Given the description of an element on the screen output the (x, y) to click on. 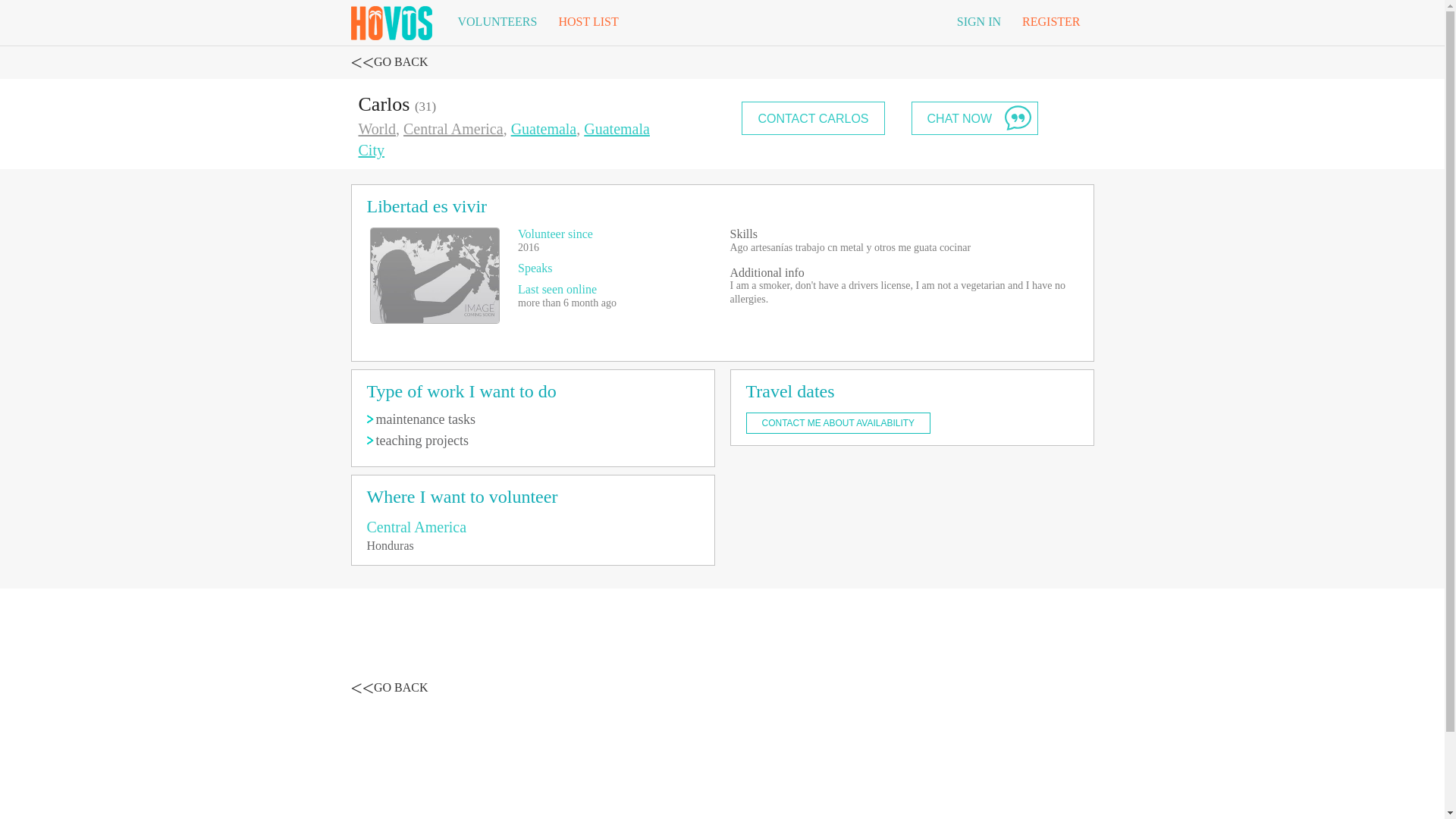
Guatemala (543, 128)
World (377, 128)
HOST LIST (587, 22)
REGISTER (1050, 22)
CHAT NOW (975, 118)
Hovos (390, 20)
CONTACT ME ABOUT AVAILABILITY (838, 423)
CONTACT CARLOS (812, 118)
SIGN IN (978, 22)
Central America (453, 128)
Guatemala City (503, 139)
VOLUNTEERS (497, 22)
